Given the description of an element on the screen output the (x, y) to click on. 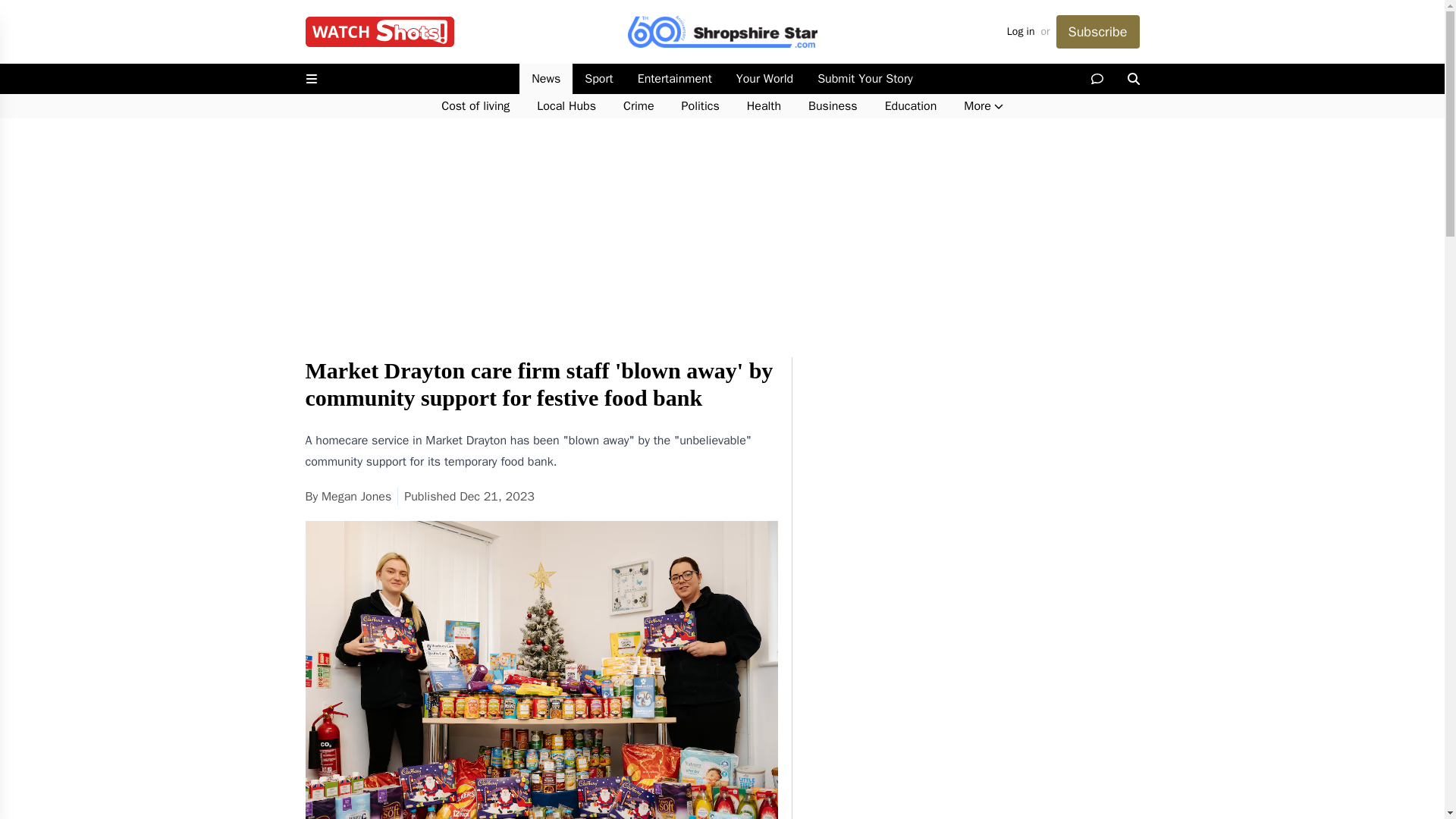
Submit Your Story (864, 78)
Sport (598, 78)
News (545, 78)
Cost of living (475, 105)
Local Hubs (566, 105)
Subscribe (1096, 31)
Entertainment (674, 78)
Business (832, 105)
More (983, 105)
Crime (638, 105)
Education (910, 105)
Politics (700, 105)
Log in (1021, 31)
Health (764, 105)
